Given the description of an element on the screen output the (x, y) to click on. 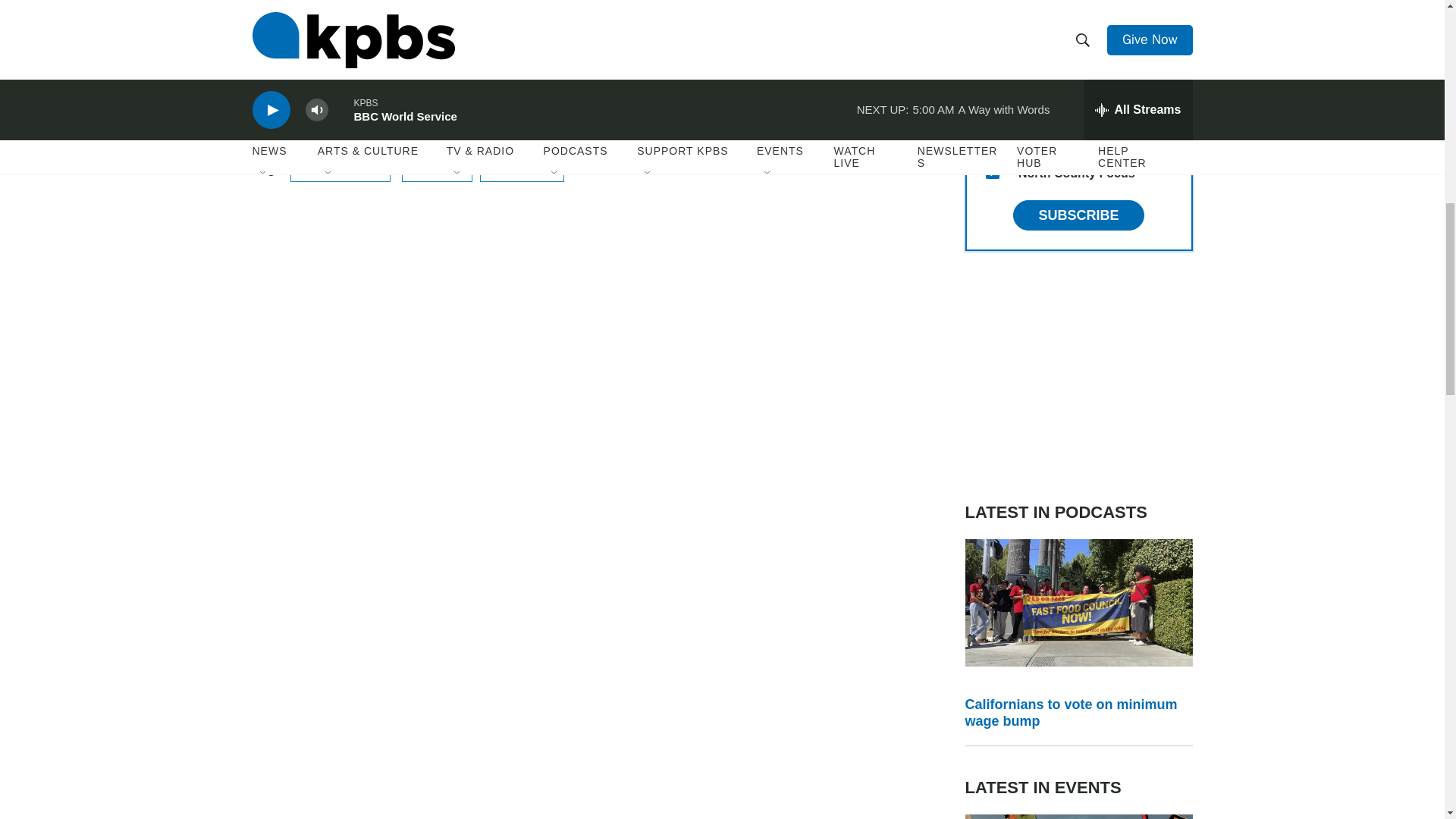
6 (991, 26)
8 (991, 135)
1 (991, 99)
2 (991, 62)
15 (991, 172)
